Given the description of an element on the screen output the (x, y) to click on. 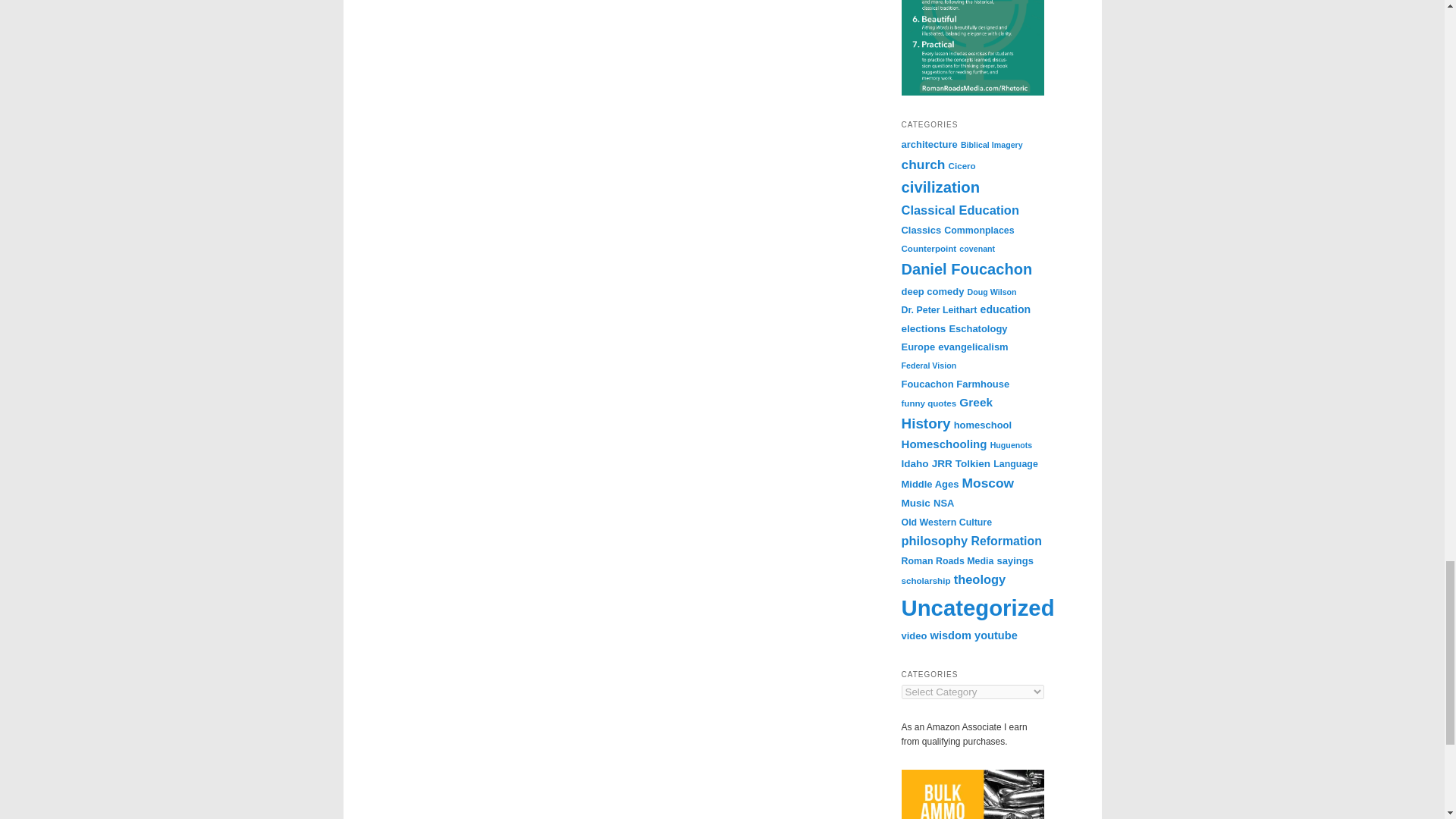
architecture (928, 143)
